Given the description of an element on the screen output the (x, y) to click on. 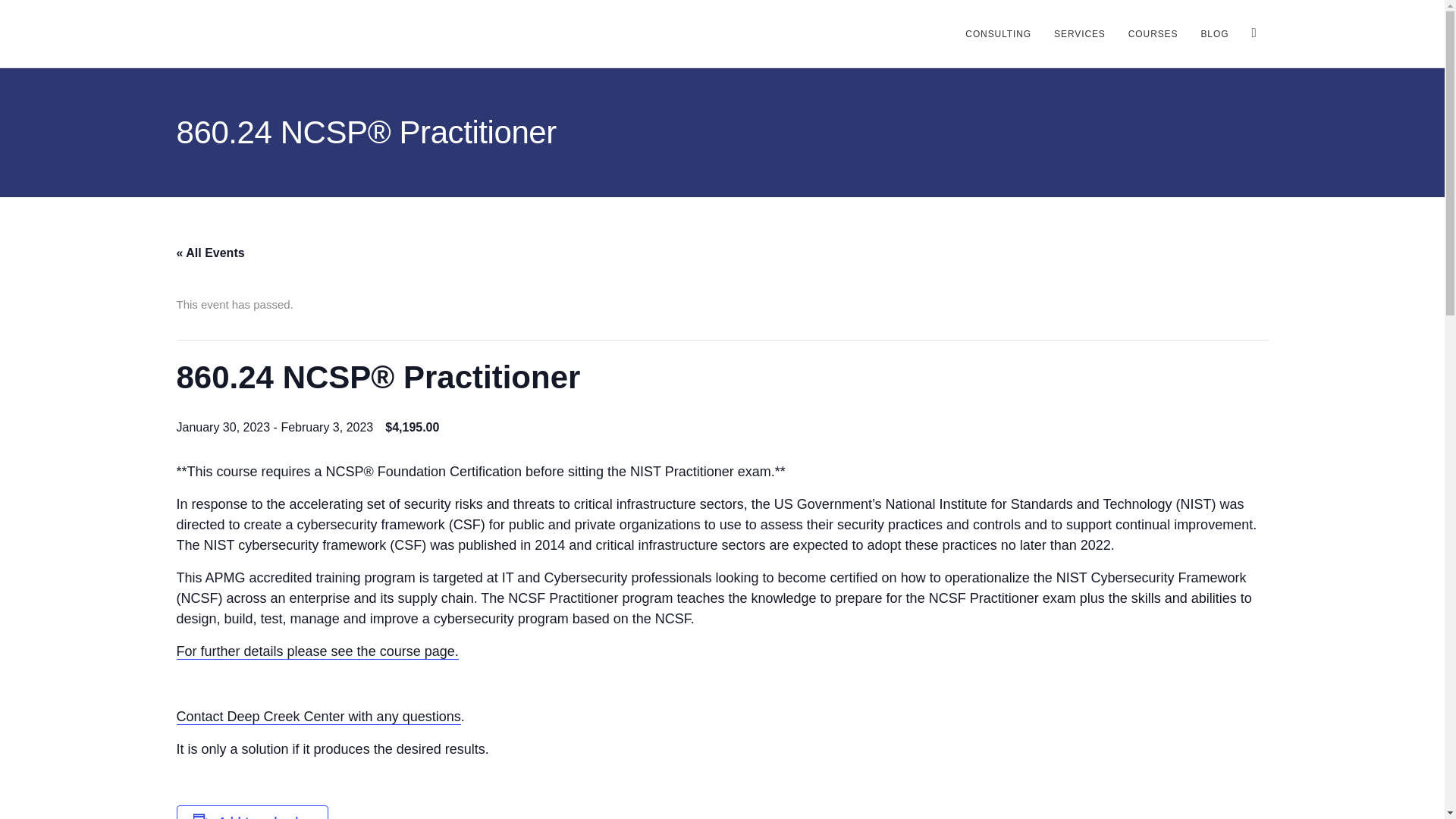
COURSES (1152, 33)
CONSULTING (997, 33)
SERVICES (1079, 33)
